Given the description of an element on the screen output the (x, y) to click on. 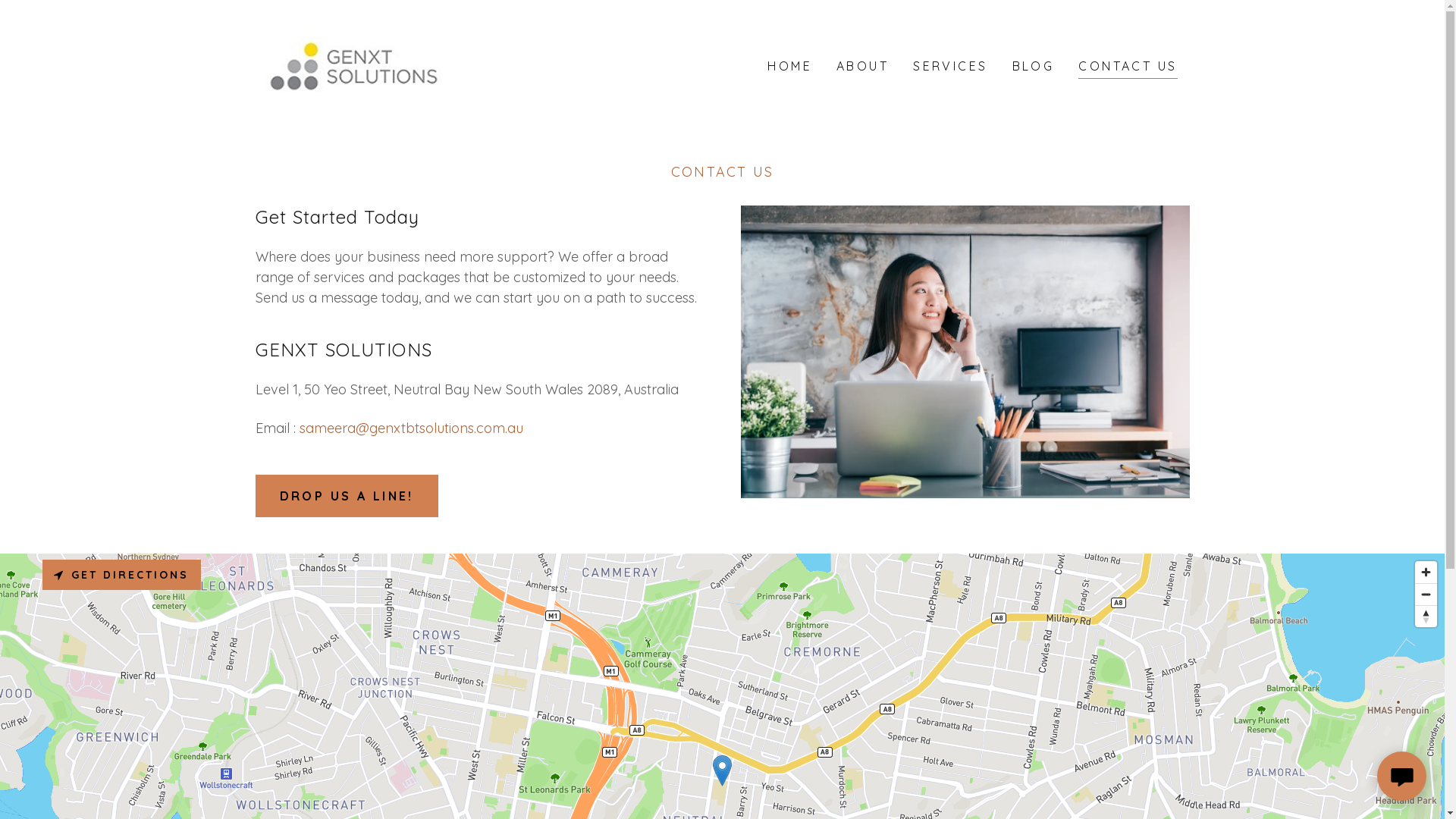
ABOUT Element type: text (862, 65)
BLOG Element type: text (1033, 65)
GENXT SOLUTIONS Element type: hover (350, 64)
Zoom out Element type: hover (1426, 594)
SERVICES Element type: text (949, 65)
DROP US A LINE! Element type: text (345, 495)
HOME Element type: text (789, 65)
Reset bearing to north Element type: hover (1426, 616)
sameera@genxtbtsolutions.com.au Element type: text (410, 427)
CONTACT US Element type: text (1127, 67)
Zoom in Element type: hover (1426, 572)
GET DIRECTIONS Element type: text (121, 574)
